Given the description of an element on the screen output the (x, y) to click on. 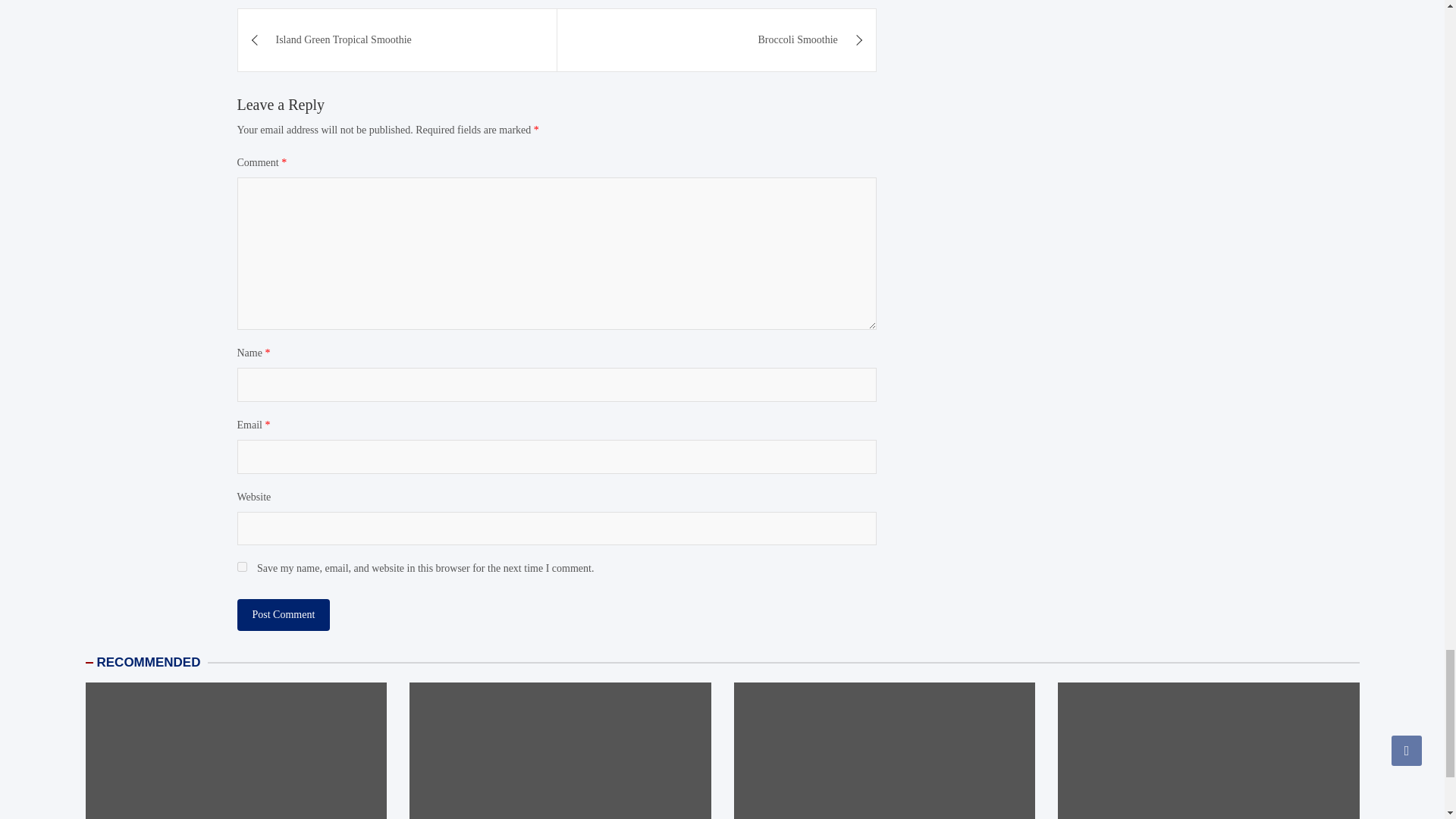
Island Green Tropical Smoothie (397, 40)
Post Comment (282, 614)
yes (240, 566)
Post Comment (282, 614)
RECOMMENDED (148, 662)
Broccoli Smoothie (716, 40)
